Given the description of an element on the screen output the (x, y) to click on. 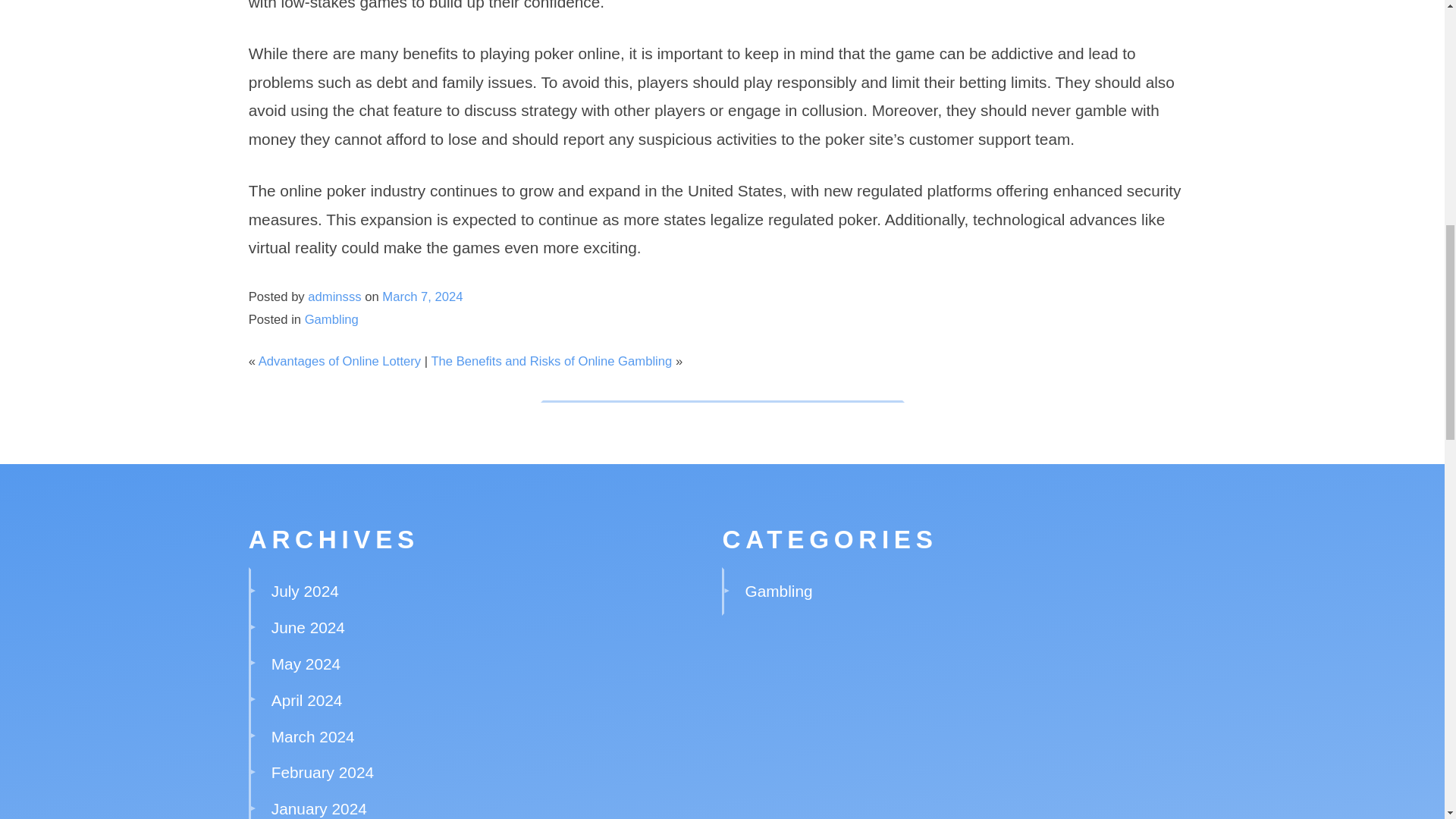
June 2024 (307, 627)
January 2024 (318, 808)
March 7, 2024 (422, 296)
February 2024 (322, 772)
May 2024 (305, 663)
April 2024 (306, 700)
The Benefits and Risks of Online Gambling (550, 360)
Gambling (331, 319)
Advantages of Online Lottery (339, 360)
Gambling (778, 590)
July 2024 (304, 590)
adminsss (334, 296)
March 2024 (312, 736)
